Given the description of an element on the screen output the (x, y) to click on. 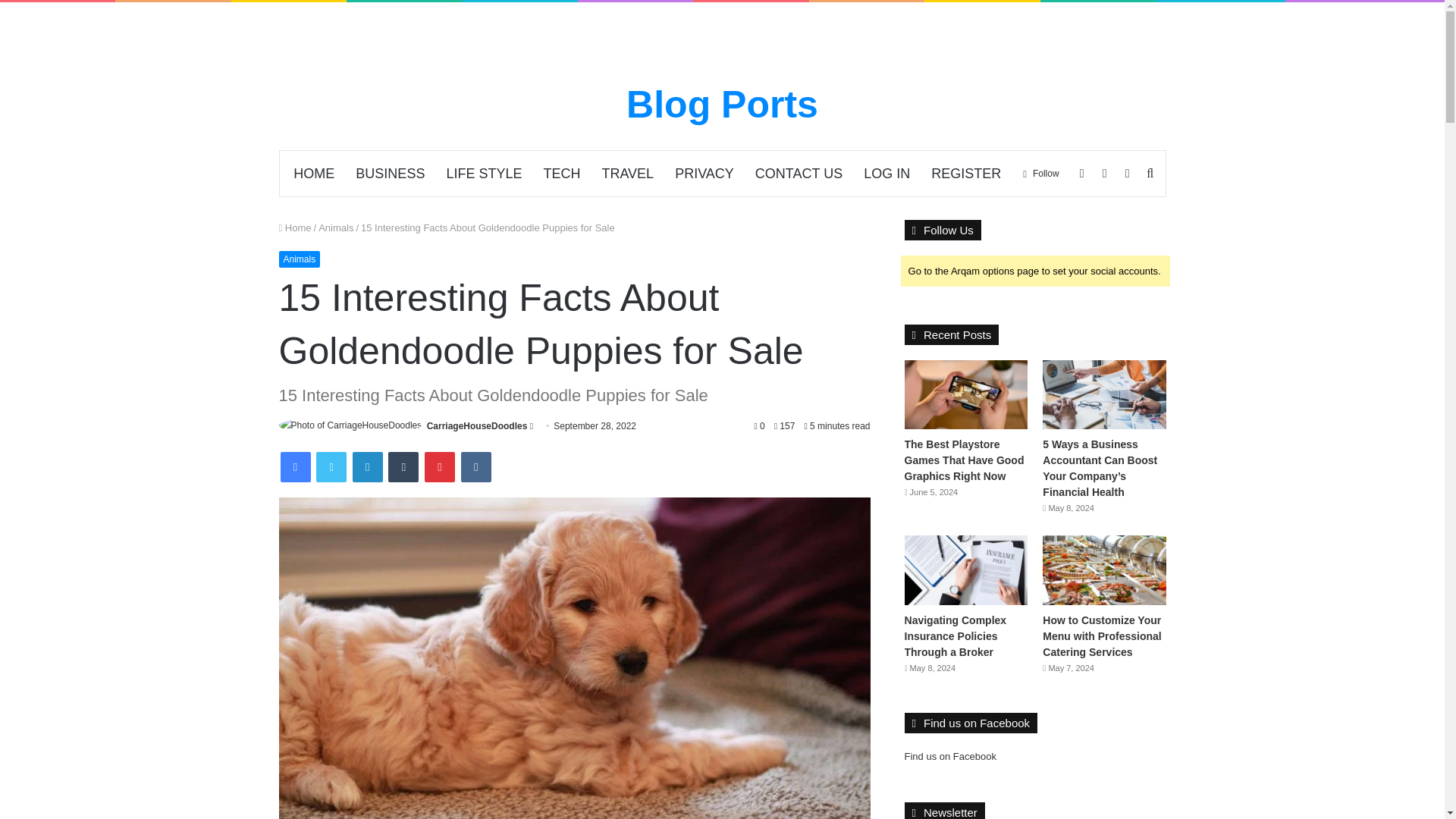
LinkedIn (367, 467)
Blog Ports (722, 104)
VKontakte (476, 467)
Blog Ports (722, 104)
Twitter (330, 467)
BUSINESS (390, 173)
TRAVEL (627, 173)
CarriageHouseDoodles (476, 425)
LOG IN (886, 173)
LinkedIn (367, 467)
Pinterest (439, 467)
Follow (1040, 173)
PRIVACY (703, 173)
TECH (561, 173)
Tumblr (403, 467)
